Given the description of an element on the screen output the (x, y) to click on. 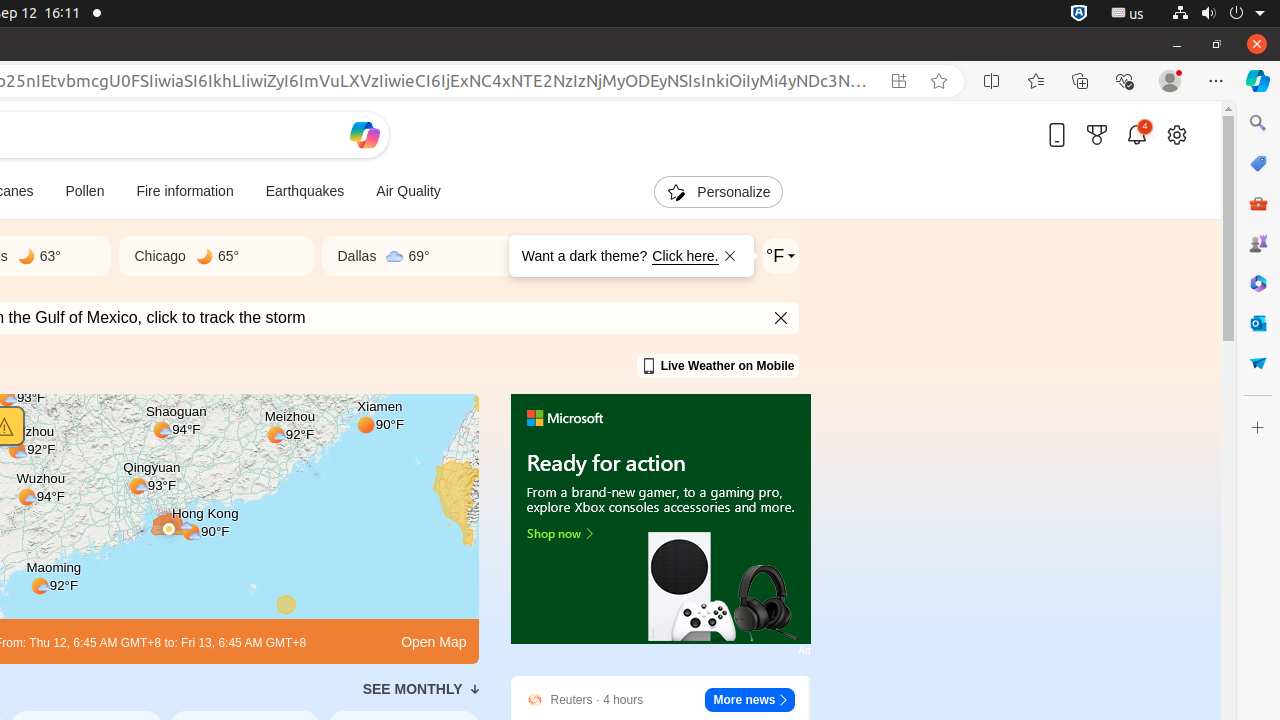
Favorites Element type: push-button (1036, 81)
Microsoft Shopping Element type: push-button (1258, 163)
Games Element type: push-button (1258, 243)
More news Element type: push-button (749, 700)
Pollen Element type: link (85, 192)
